Given the description of an element on the screen output the (x, y) to click on. 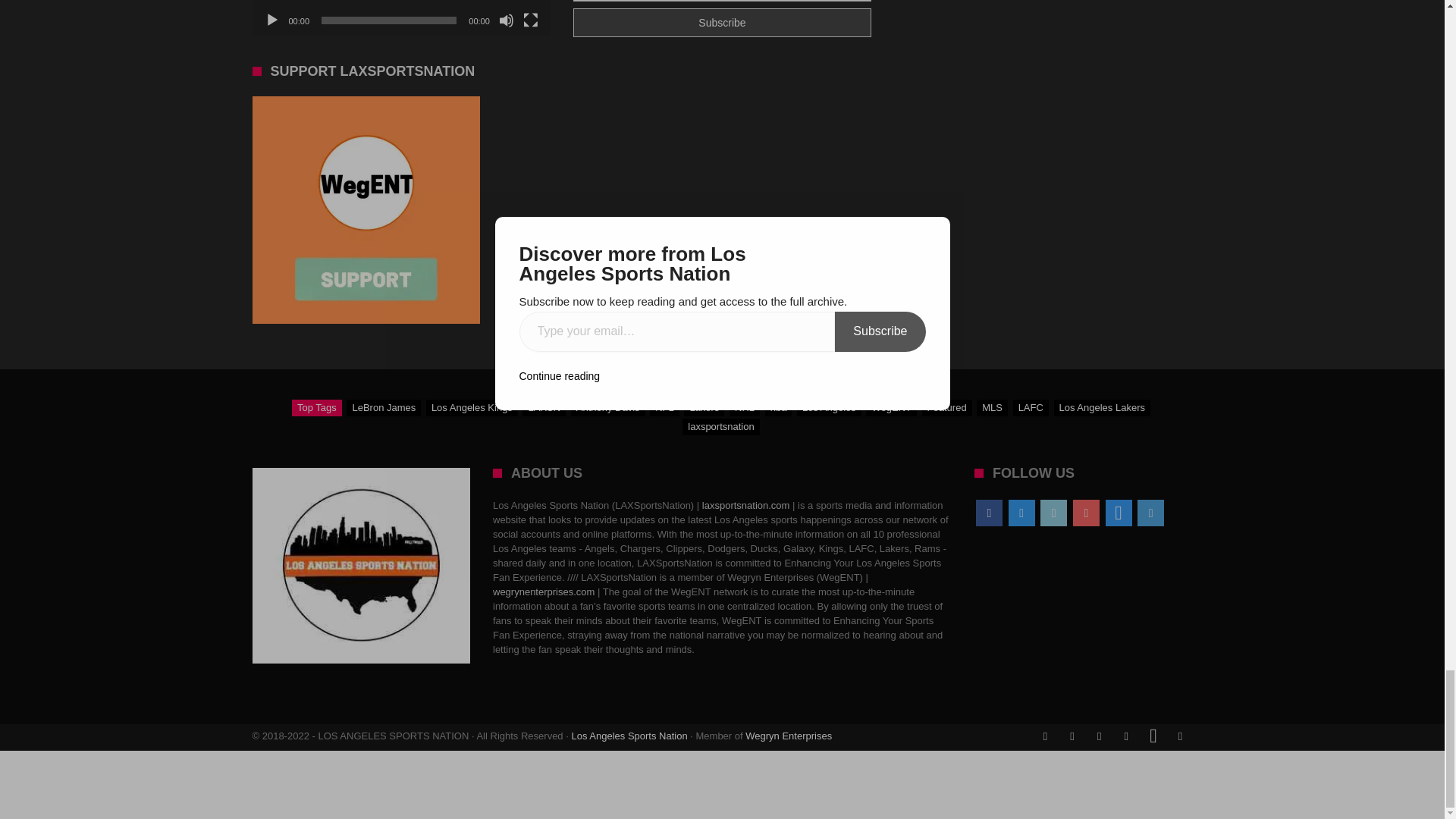
Subscribe (721, 22)
